Given the description of an element on the screen output the (x, y) to click on. 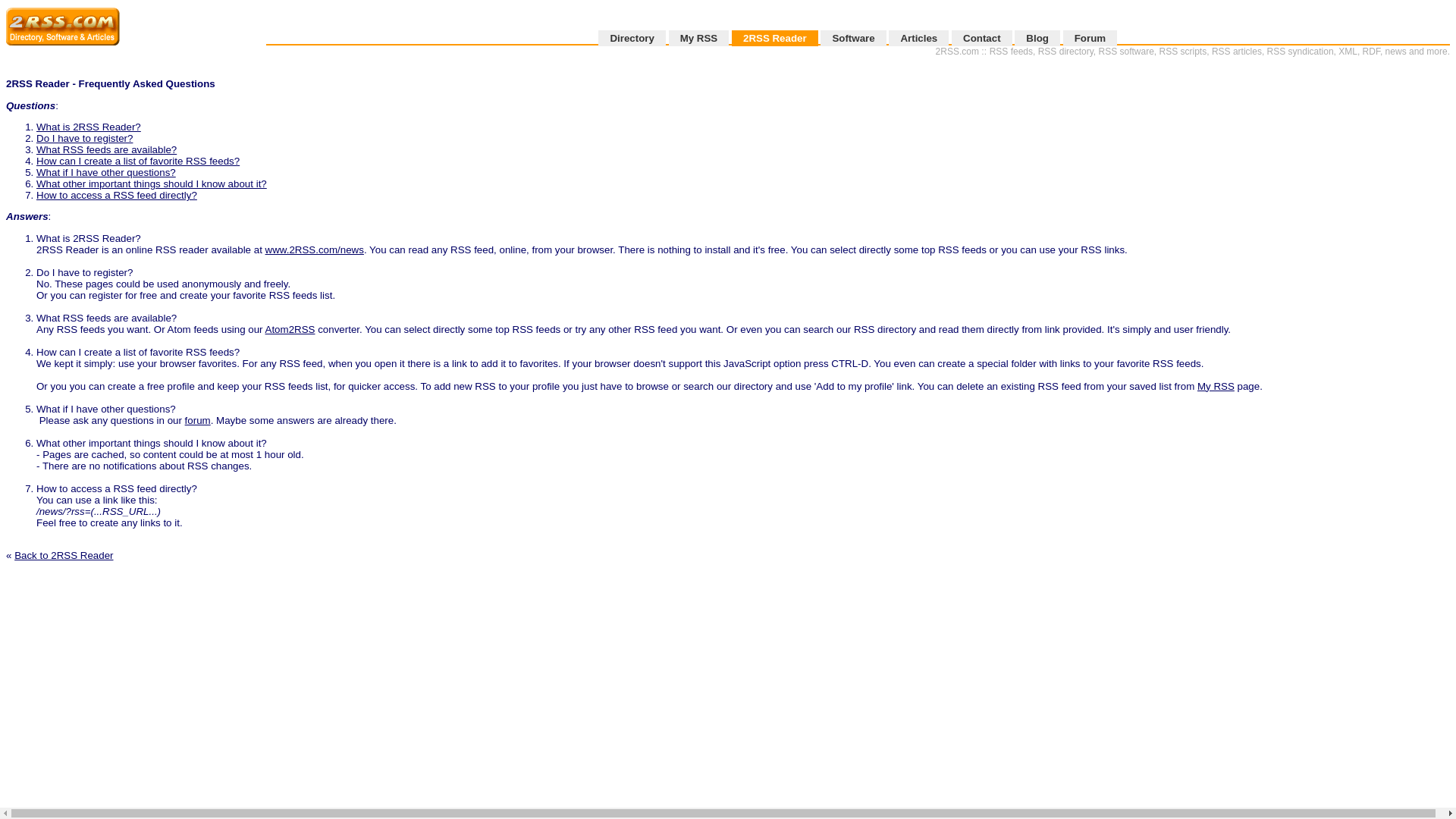
How to access a RSS feed directly? Element type: text (116, 194)
What other important things should I know about it? Element type: text (151, 183)
Atom2RSS Element type: text (290, 329)
What if I have other questions? Element type: text (105, 172)
Back to 2RSS Reader Element type: text (63, 555)
How can I create a list of favorite RSS feeds? Element type: text (137, 160)
What RSS feeds are available? Element type: text (106, 149)
Blog Element type: text (1037, 38)
What is 2RSS Reader? Element type: text (88, 126)
My RSS Element type: text (698, 38)
Articles Element type: text (918, 38)
Forum Element type: text (1090, 38)
www.2RSS.com/news Element type: text (314, 249)
Contact Element type: text (981, 38)
Software Element type: text (852, 38)
forum Element type: text (197, 420)
Directory Element type: text (631, 38)
My RSS Element type: text (1215, 386)
2RSS Reader Element type: text (774, 38)
Do I have to register? Element type: text (84, 138)
Advertisement Element type: hover (1403, 284)
